Given the description of an element on the screen output the (x, y) to click on. 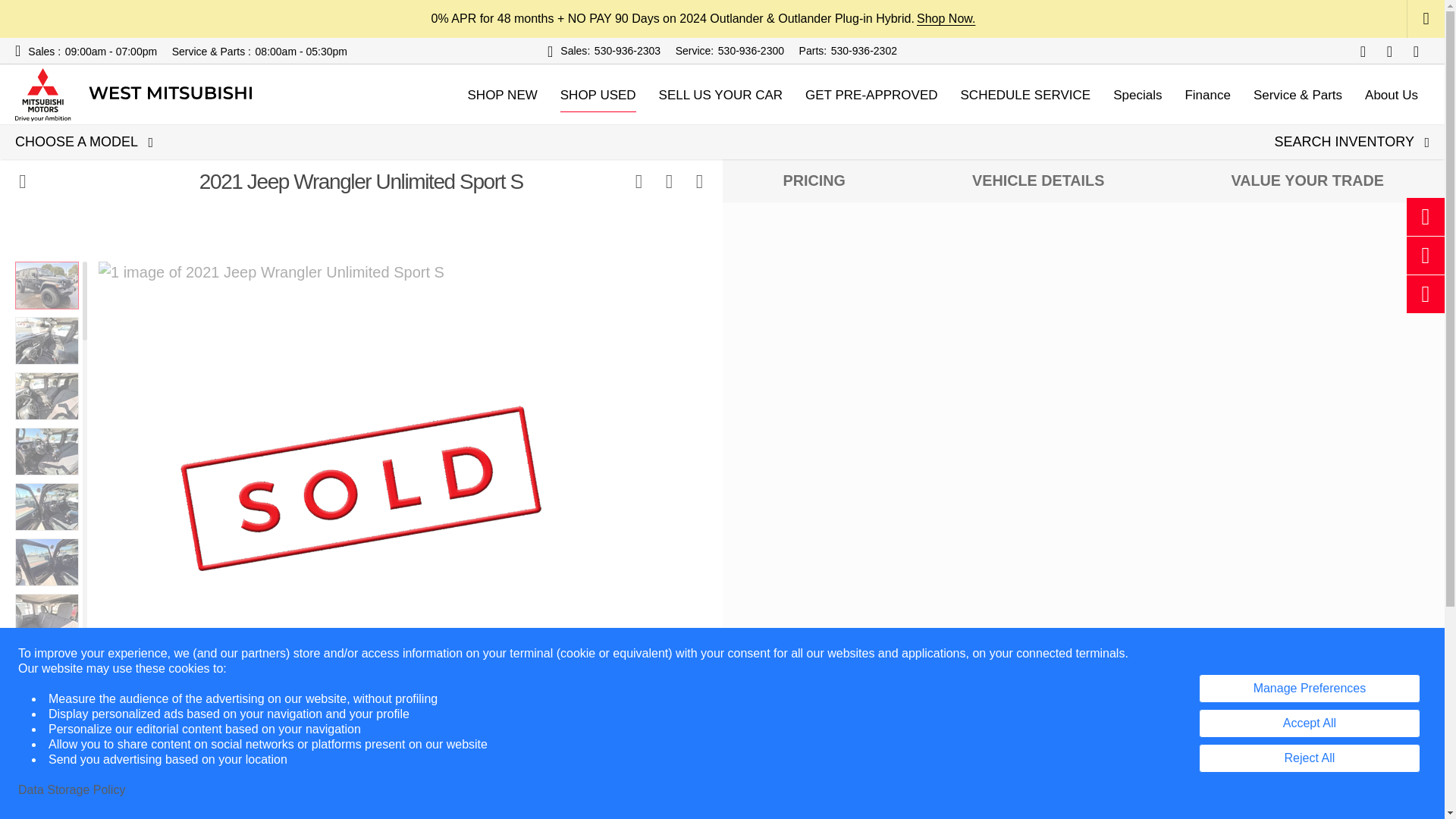
530-936-2300 (750, 50)
Call to Service (694, 50)
Shop New (502, 94)
Shop Used (598, 94)
Call to 530-936-2302 (863, 50)
Close (1425, 18)
Data Storage Policy (71, 789)
SCHEDULE SERVICE (1025, 94)
Call to Parts (813, 50)
Sell Your Car Now (721, 94)
530-936-2303 (627, 50)
Call to 530-936-2300 (750, 50)
SELL US YOUR CAR (721, 94)
Call to 530-936-2303 (627, 50)
